Given the description of an element on the screen output the (x, y) to click on. 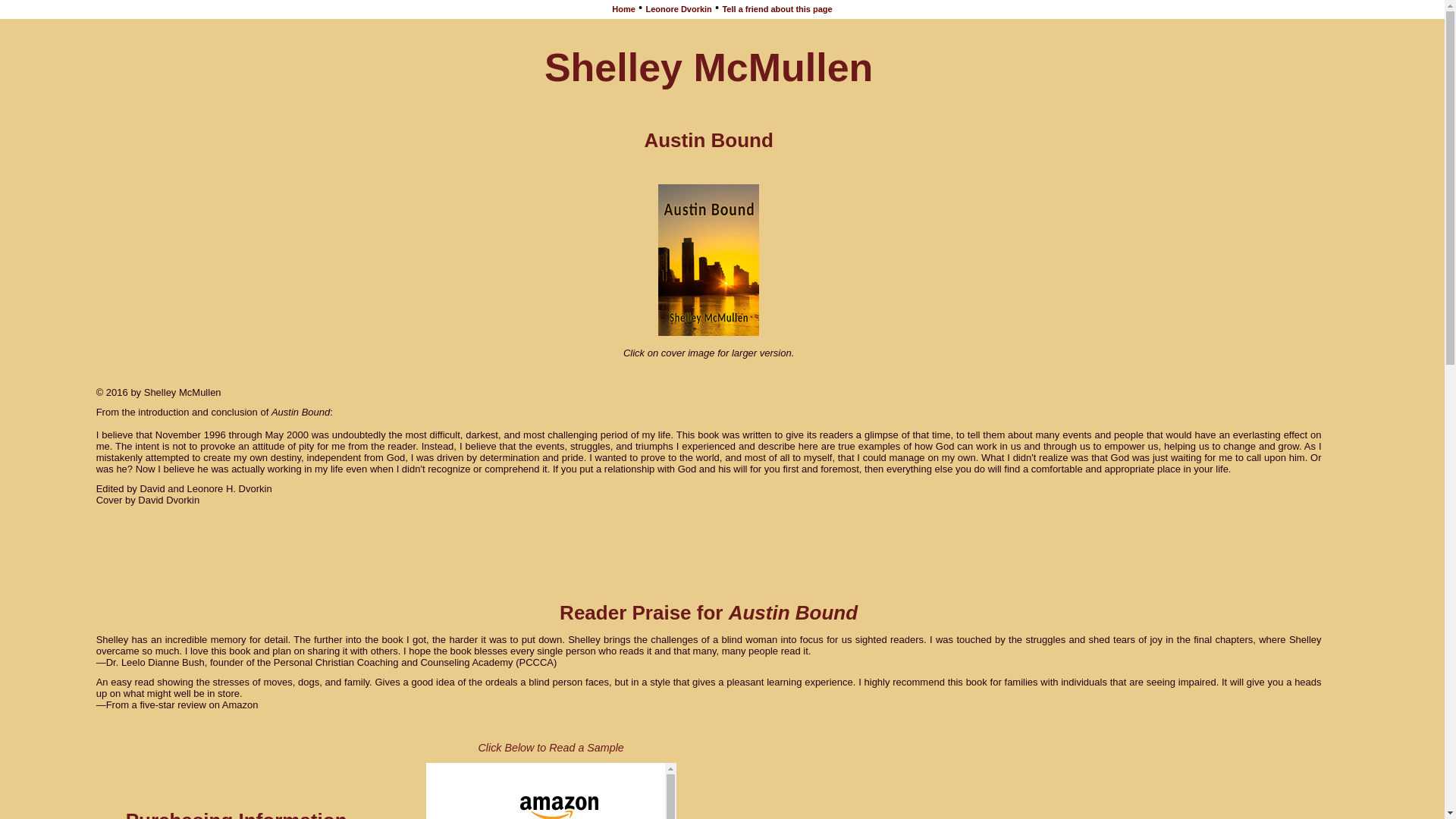
Leonore Dvorkin (678, 8)
Home (622, 8)
Tell a friend about this page (776, 8)
